Given the description of an element on the screen output the (x, y) to click on. 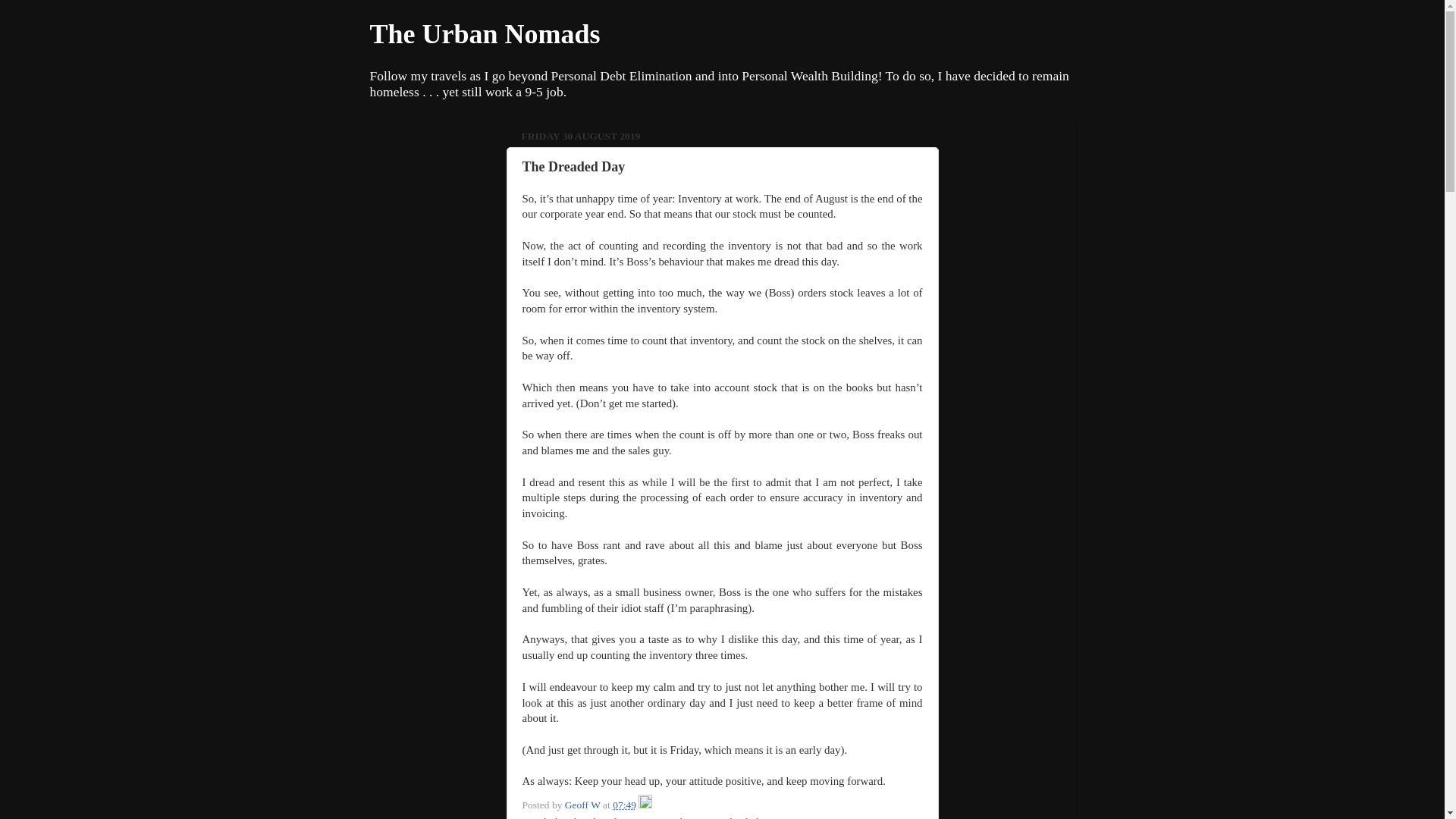
Share to Facebook (711, 817)
Share to Twitter (641, 817)
Share to Twitter (641, 817)
Share to Pinterest (786, 817)
07:49 (624, 804)
Email This (543, 817)
BlogThis! (587, 817)
permanent link (624, 804)
author profile (583, 804)
Email This (543, 817)
Edit Post (645, 804)
Share to Facebook (711, 817)
The Urban Nomads (484, 33)
BlogThis! (587, 817)
Share to Pinterest (786, 817)
